Given the description of an element on the screen output the (x, y) to click on. 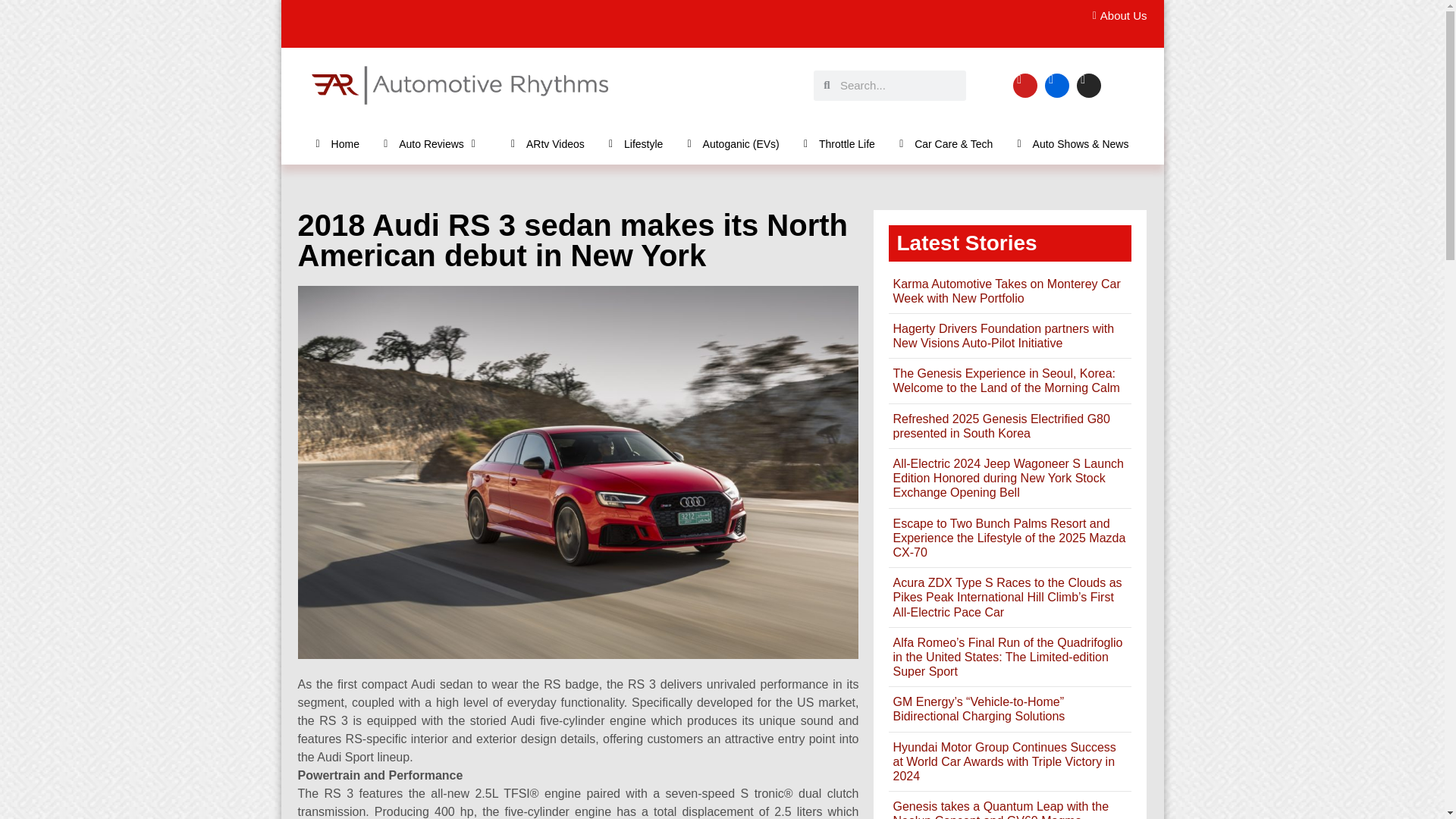
Auto Reviews (435, 142)
About Us (1115, 16)
ARtv Videos (547, 142)
